Given the description of an element on the screen output the (x, y) to click on. 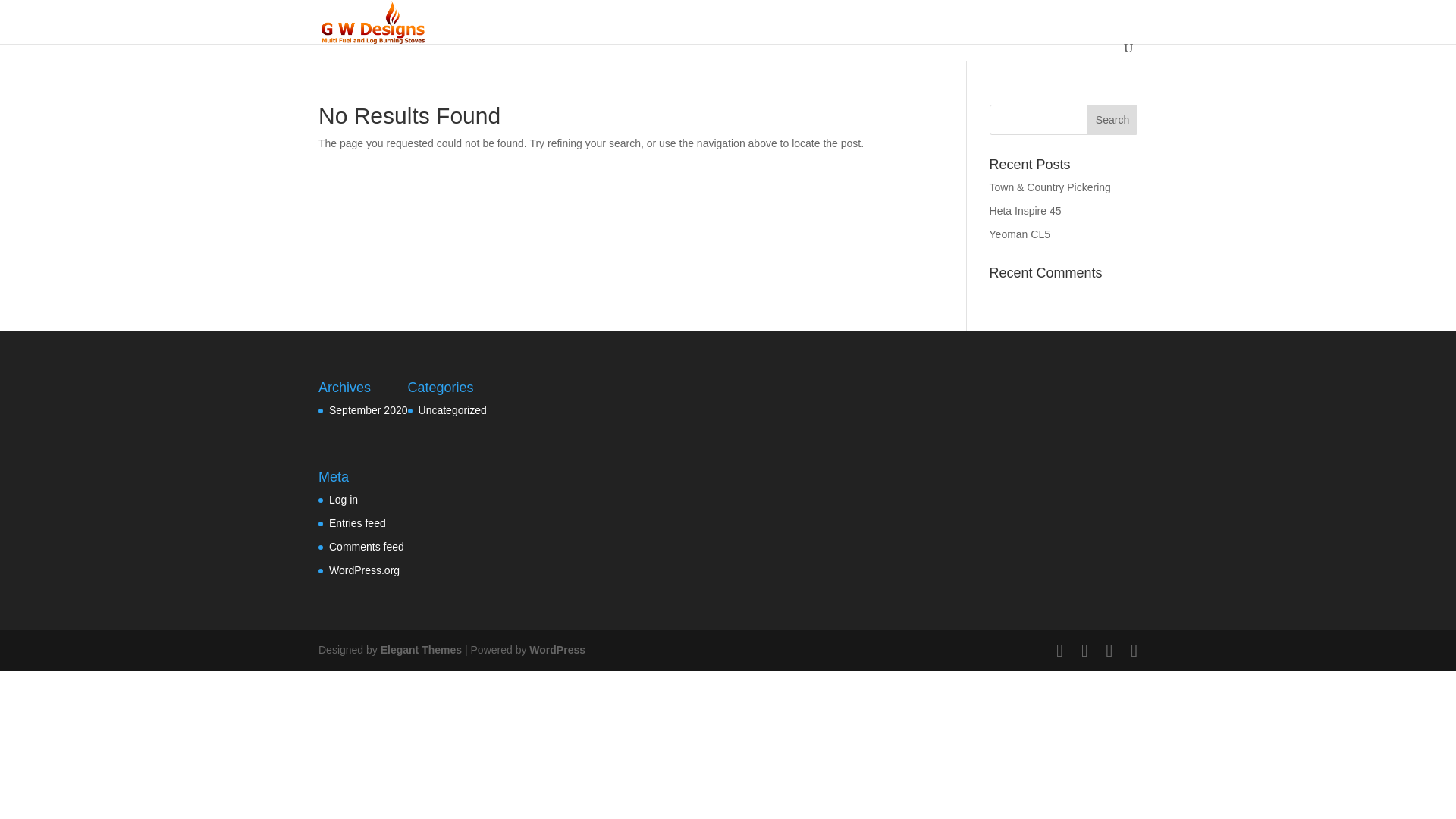
WordPress (557, 649)
Heta Inspire 45 (1025, 210)
September 2020 (368, 410)
WordPress.org (363, 570)
Uncategorized (452, 410)
Search (1112, 119)
Yeoman CL5 (1019, 234)
Elegant Themes (420, 649)
Entries feed (357, 522)
Log in (343, 499)
Premium WordPress Themes (420, 649)
Search (1112, 119)
Comments feed (366, 546)
